Given the description of an element on the screen output the (x, y) to click on. 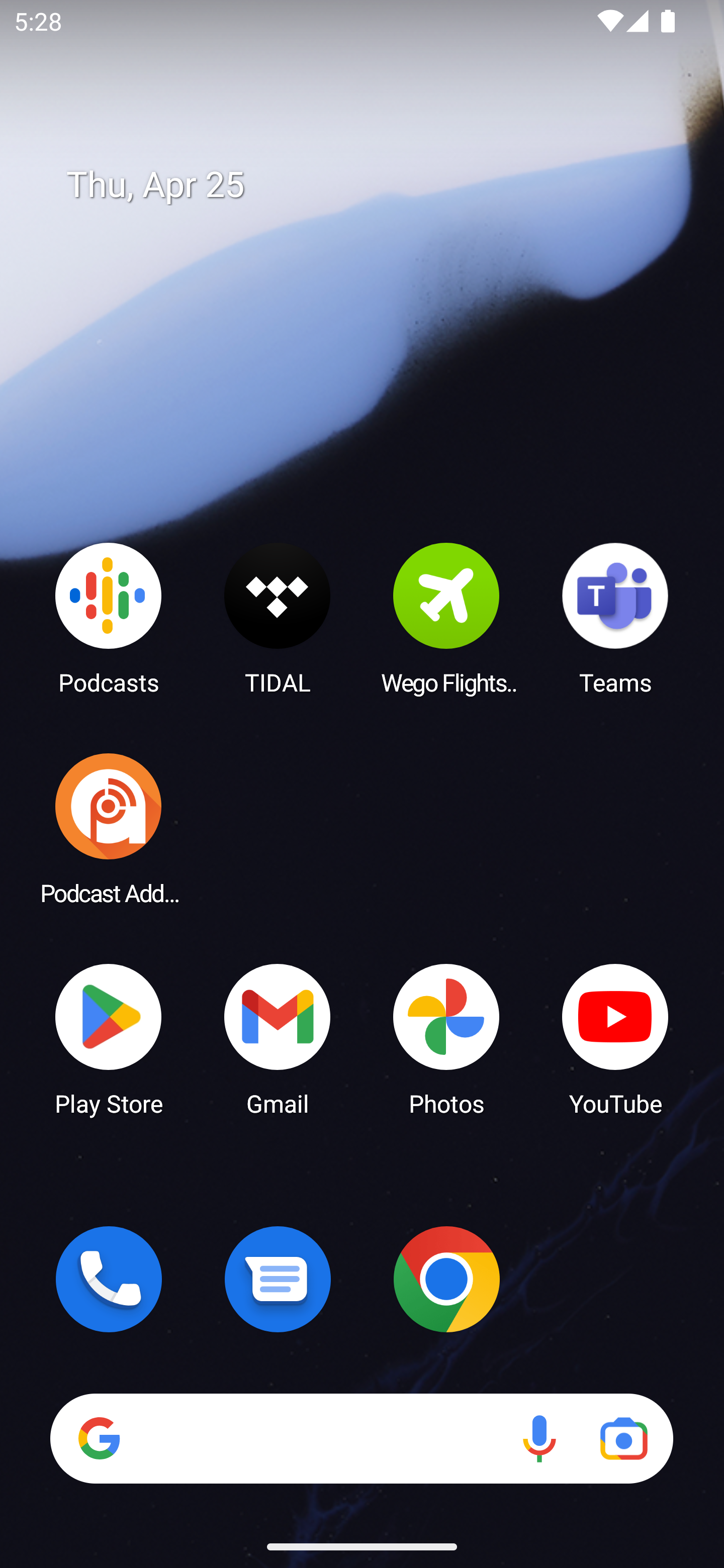
Thu, Apr 25 (375, 184)
Podcasts (108, 617)
TIDAL (277, 617)
Wego Flights & Hotels (445, 617)
Teams (615, 617)
Podcast Addict (108, 828)
Play Store (108, 1038)
Gmail (277, 1038)
Photos (445, 1038)
YouTube (615, 1038)
Phone (108, 1279)
Messages (277, 1279)
Chrome (446, 1279)
Search Voice search Google Lens (361, 1438)
Voice search (539, 1438)
Google Lens (623, 1438)
